Given the description of an element on the screen output the (x, y) to click on. 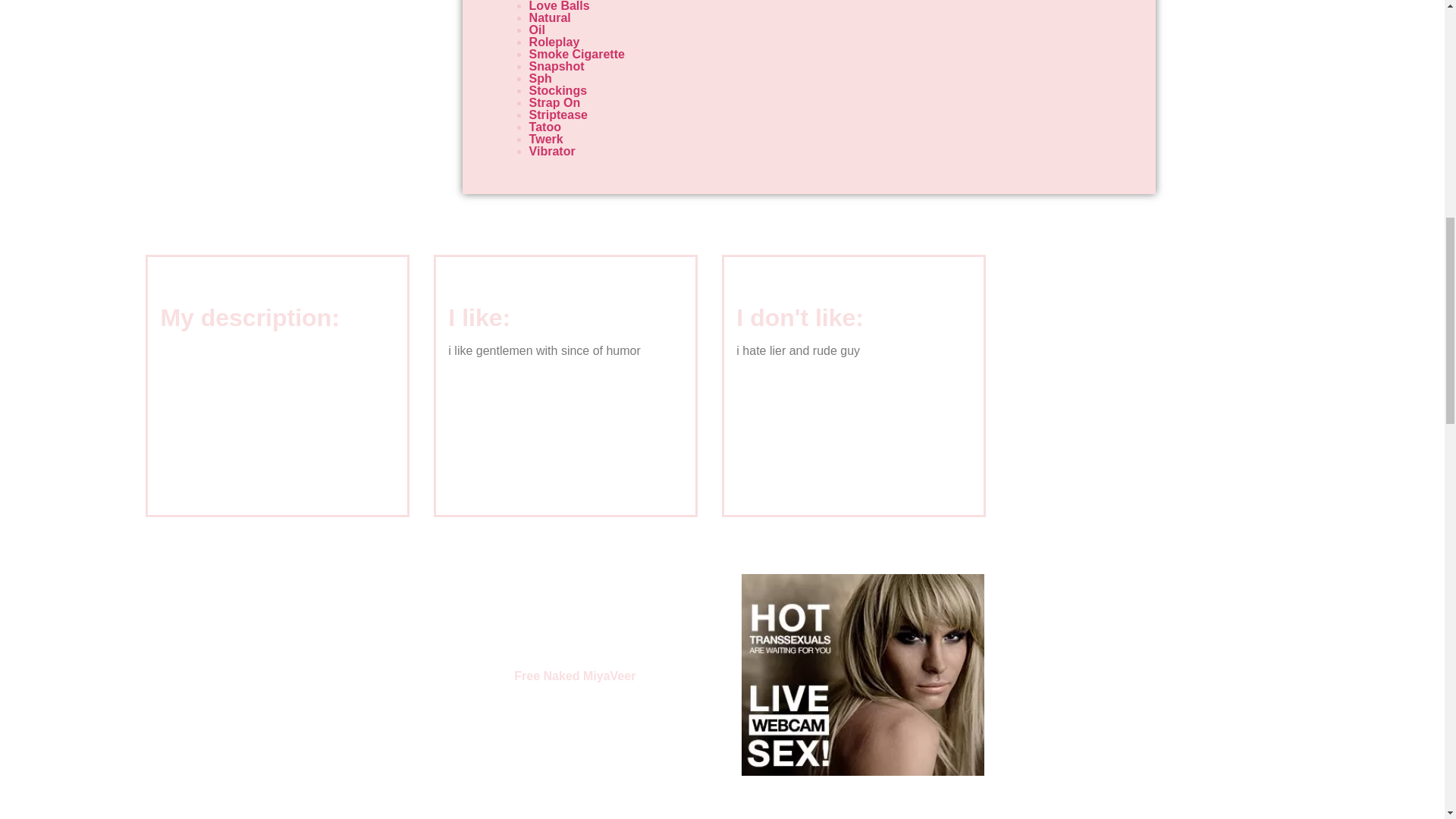
Smoke Cigarette (576, 53)
Tatoo (544, 126)
Striptease (558, 114)
Strap On (554, 102)
Oil (536, 29)
Stockings (557, 90)
Twerk (546, 138)
Sph (540, 78)
Love Balls (559, 6)
Natural (549, 17)
Natural (549, 17)
Vibrator (552, 151)
Free Naked MiyaVeer (573, 675)
Snapshot (557, 65)
Love Balls (559, 6)
